Given the description of an element on the screen output the (x, y) to click on. 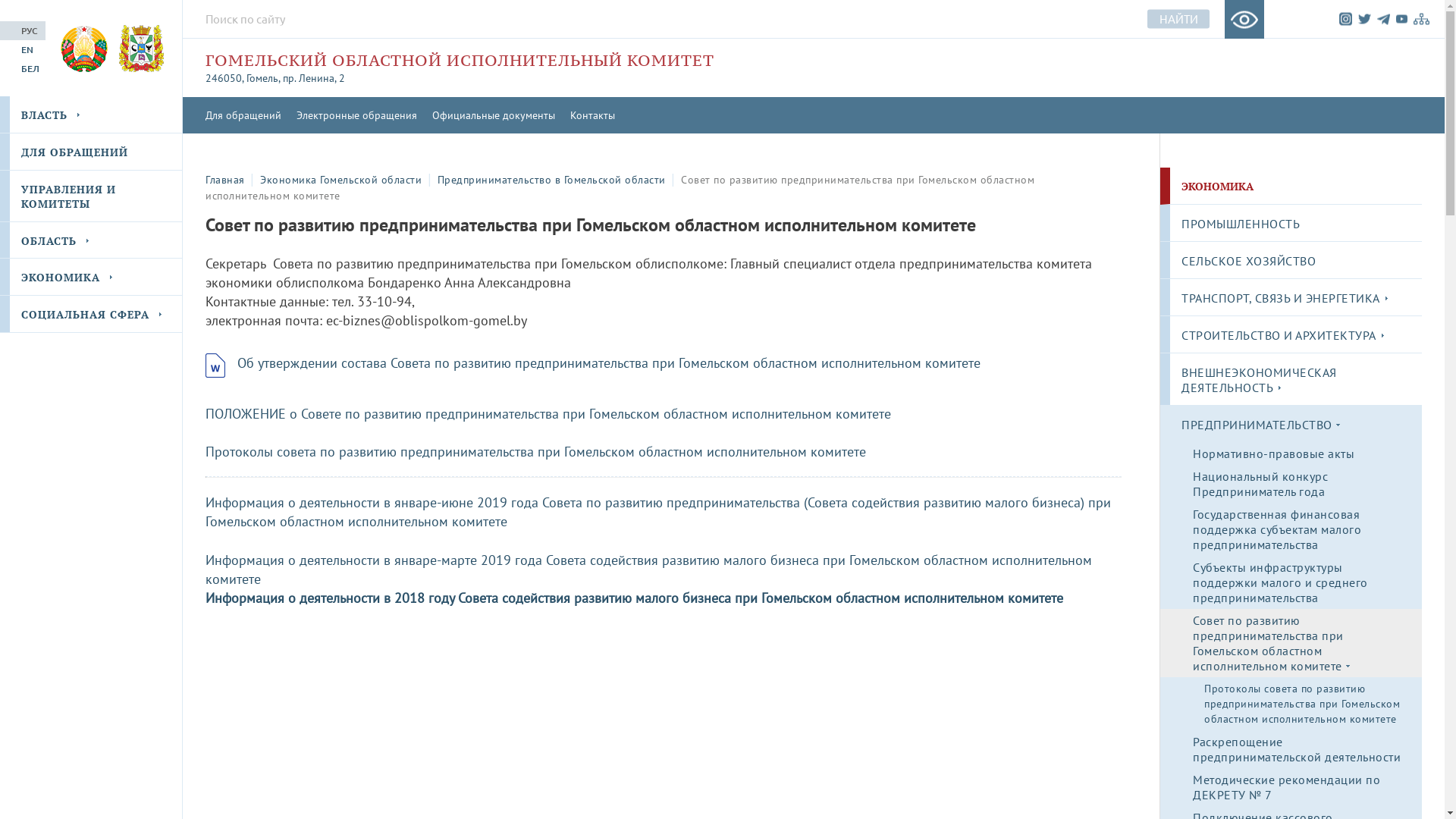
Twitter Element type: hover (1364, 18)
Telegram Element type: hover (1383, 18)
Instagram Element type: hover (1345, 18)
EN Element type: text (22, 49)
YouTube Element type: hover (1401, 19)
